Given the description of an element on the screen output the (x, y) to click on. 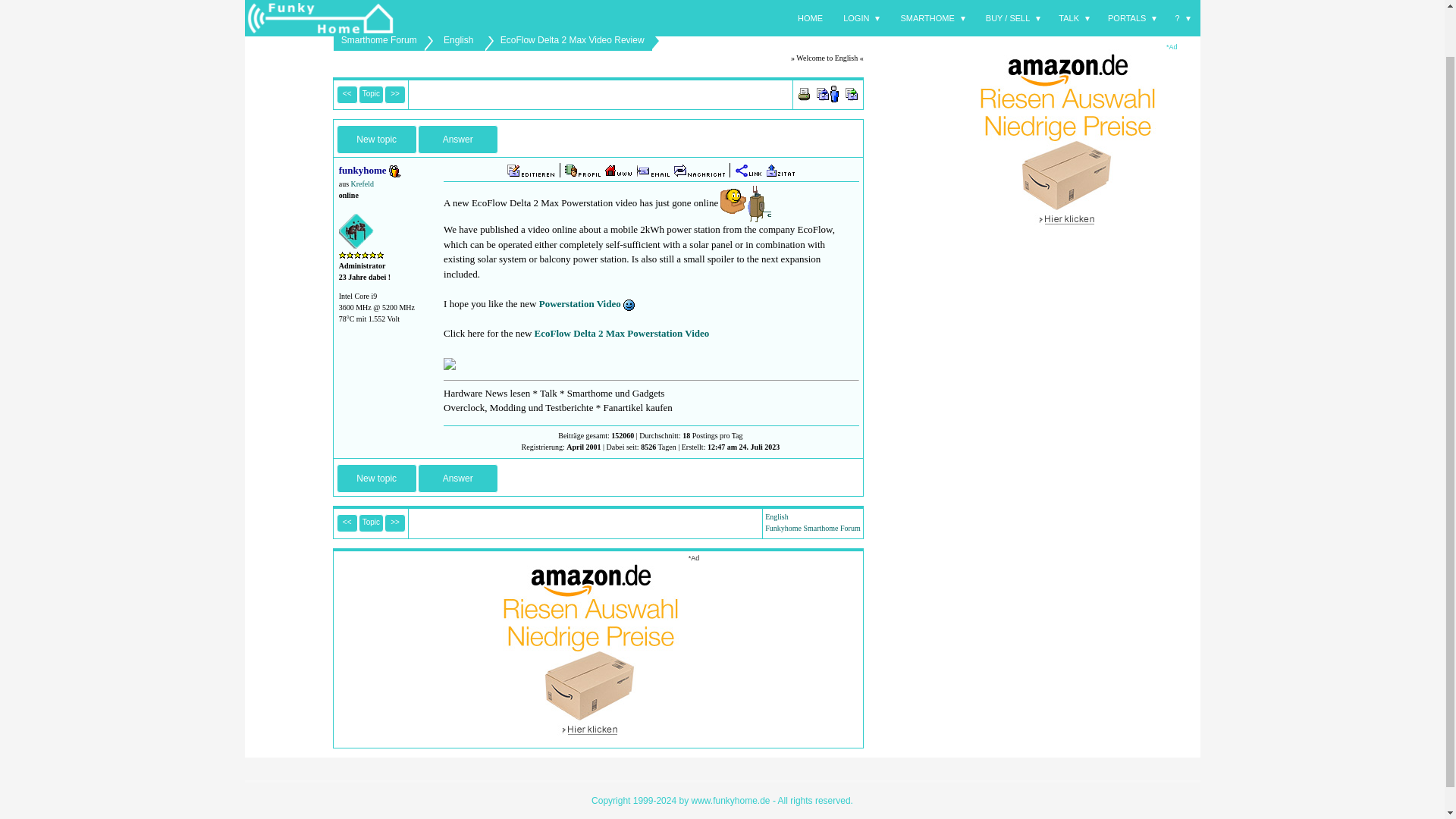
Previous topic (347, 523)
:tv: (745, 203)
Bitte erst einloggen (851, 94)
Druckbarer Beitrag (803, 92)
Bitte erst einloggen (651, 170)
Next topic (395, 94)
Next topic (395, 523)
Add new topic (376, 478)
Add new topic (376, 139)
EcoFlow Delta 2 Max Video Review (572, 40)
